Given the description of an element on the screen output the (x, y) to click on. 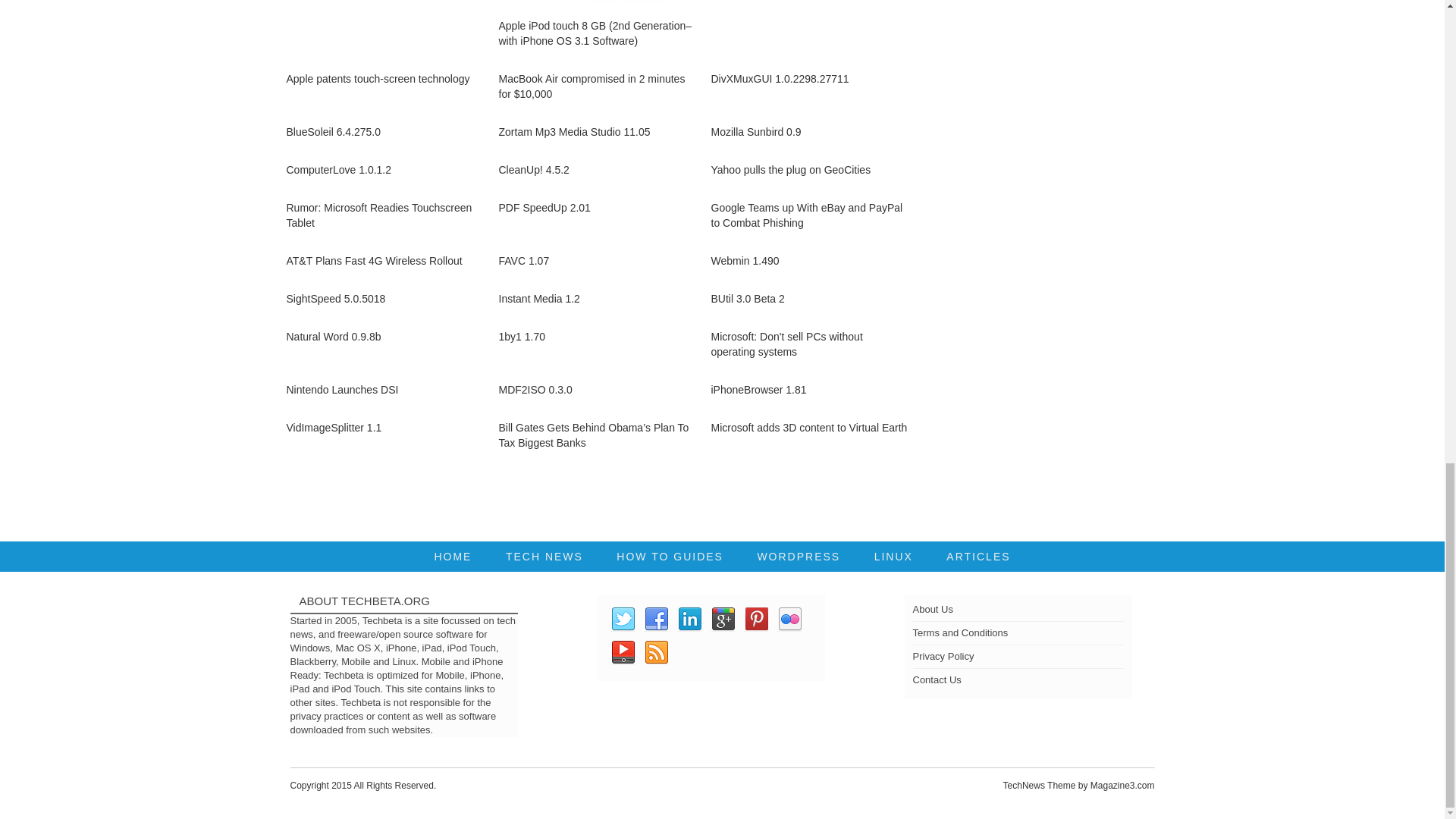
Google Plus (721, 619)
Twitter (621, 619)
LinkedIn (688, 619)
Facebook (654, 619)
